Given the description of an element on the screen output the (x, y) to click on. 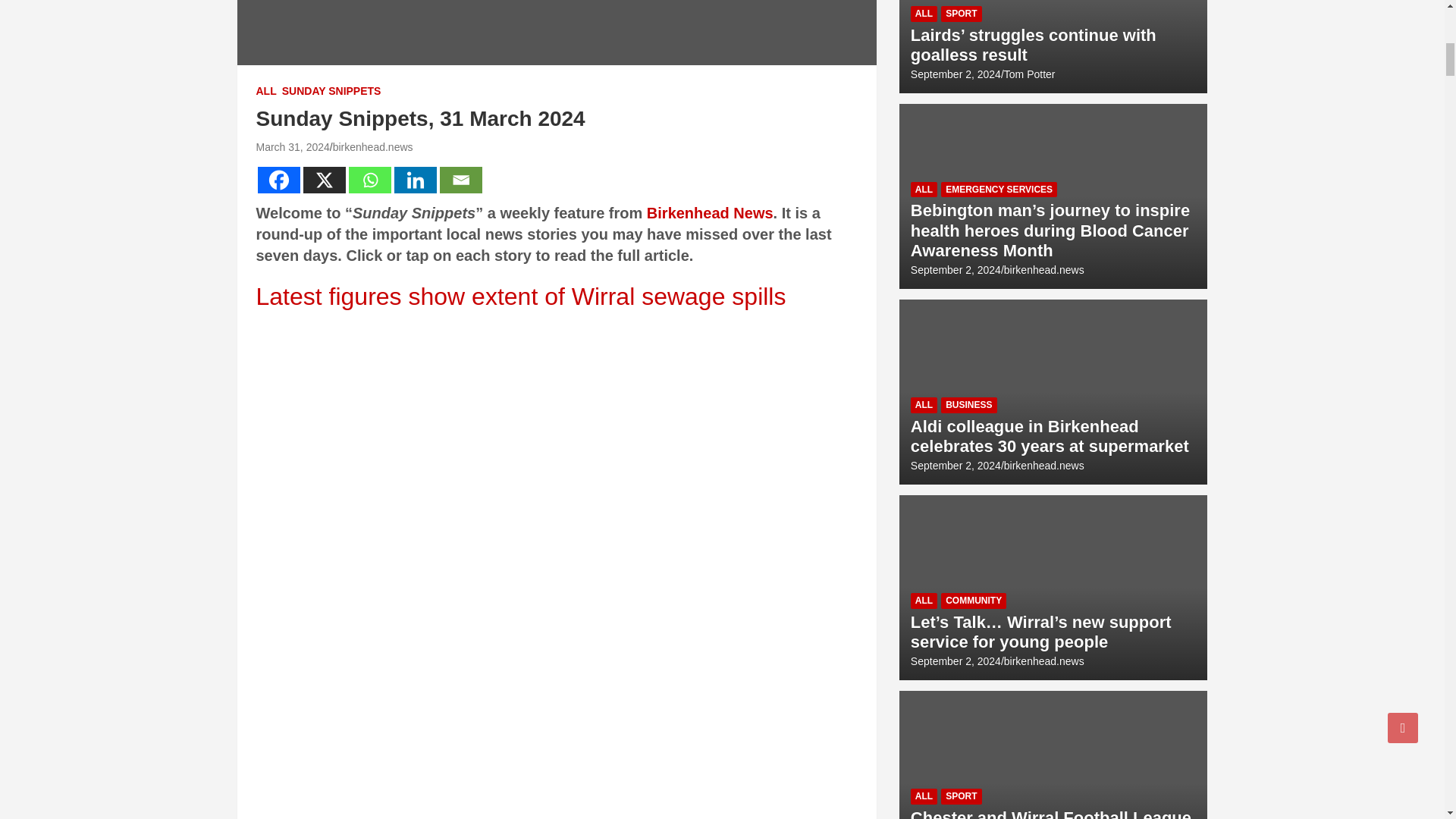
March 31, 2024 (293, 146)
SUNDAY SNIPPETS (331, 91)
Whatsapp (370, 180)
Linkedin (415, 180)
X (324, 180)
Sunday Snippets, 31 March 2024 (293, 146)
Facebook (278, 180)
birkenhead.news (373, 146)
Email (460, 180)
